Given the description of an element on the screen output the (x, y) to click on. 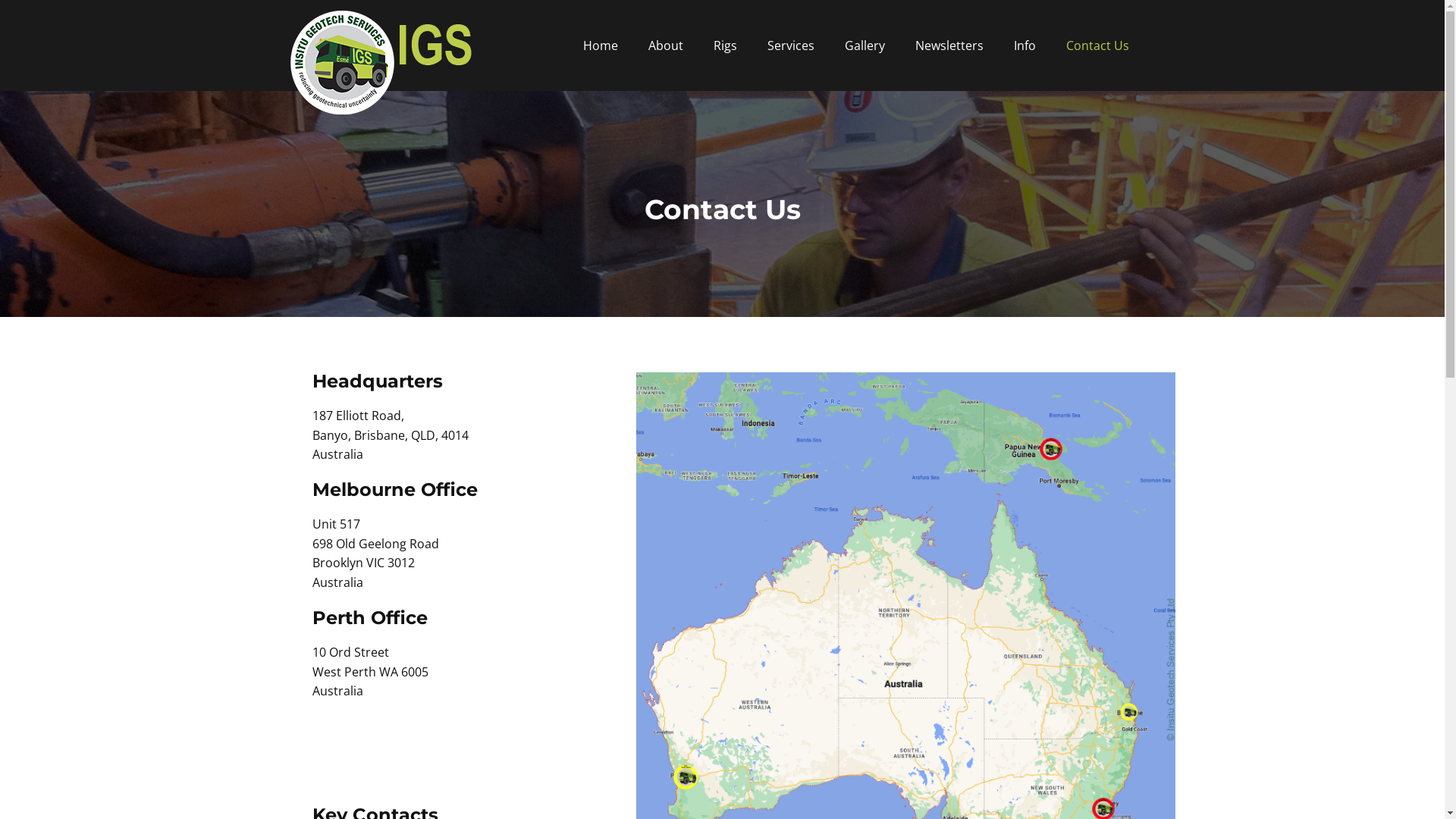
Info Element type: text (1023, 45)
Rigs Element type: text (724, 45)
Home Element type: text (599, 45)
Newsletters Element type: text (948, 45)
Services Element type: text (790, 45)
About Element type: text (664, 45)
Contact Us Element type: text (1097, 45)
Gallery Element type: text (864, 45)
